Given the description of an element on the screen output the (x, y) to click on. 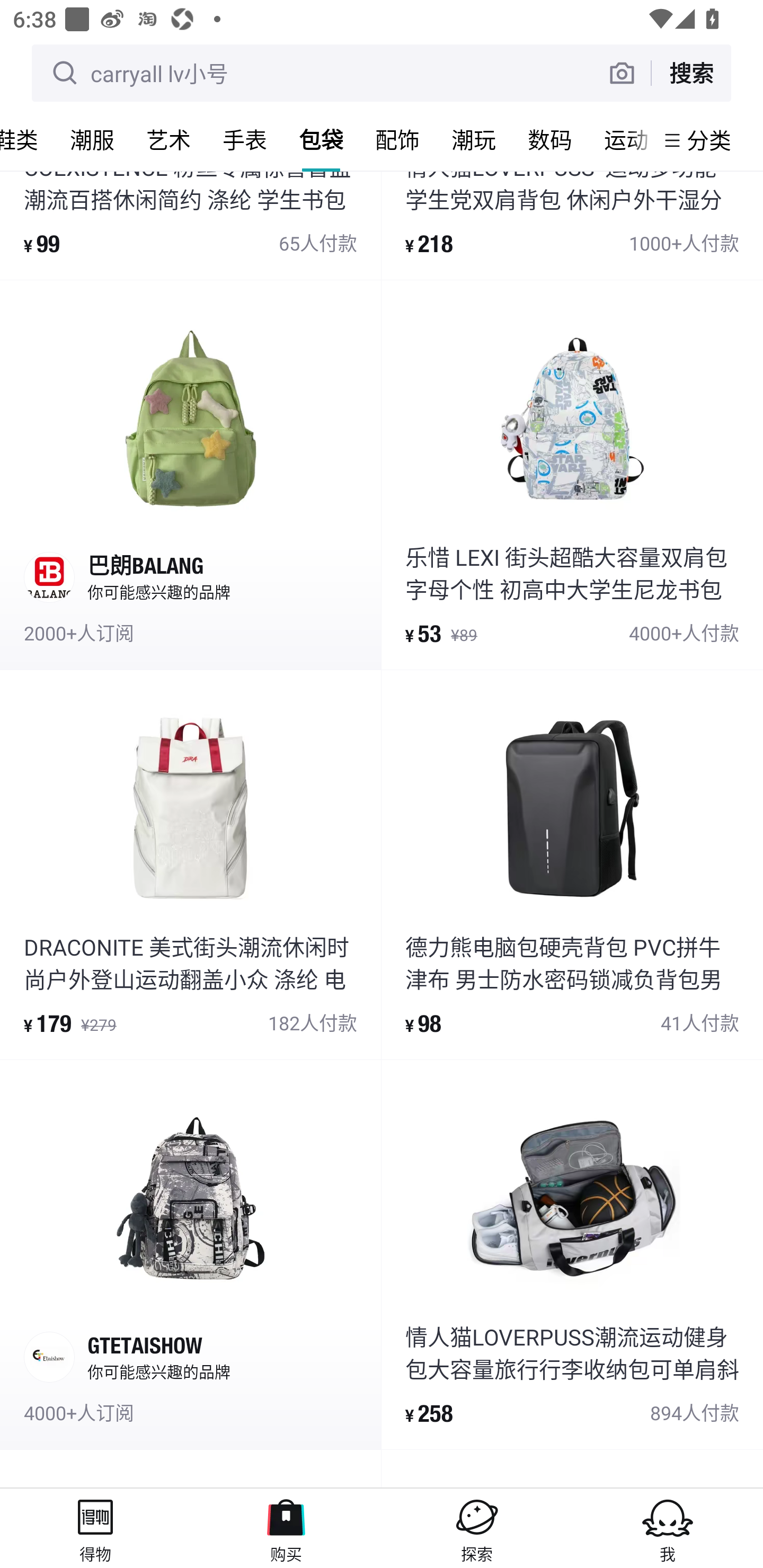
搜索 (690, 72)
鞋类 (27, 139)
潮服 (92, 139)
艺术 (168, 139)
手表 (244, 139)
包袋 (321, 139)
配饰 (397, 139)
潮玩 (473, 139)
数码 (549, 139)
运动 (621, 139)
分类 (708, 139)
巴朗BALANG 你可能感兴趣的品牌 2000+人订阅 (190, 474)
GTETAISHOW 你可能感兴趣的品牌 4000+人订阅 (190, 1253)
得物 (95, 1528)
购买 (285, 1528)
探索 (476, 1528)
我 (667, 1528)
